Given the description of an element on the screen output the (x, y) to click on. 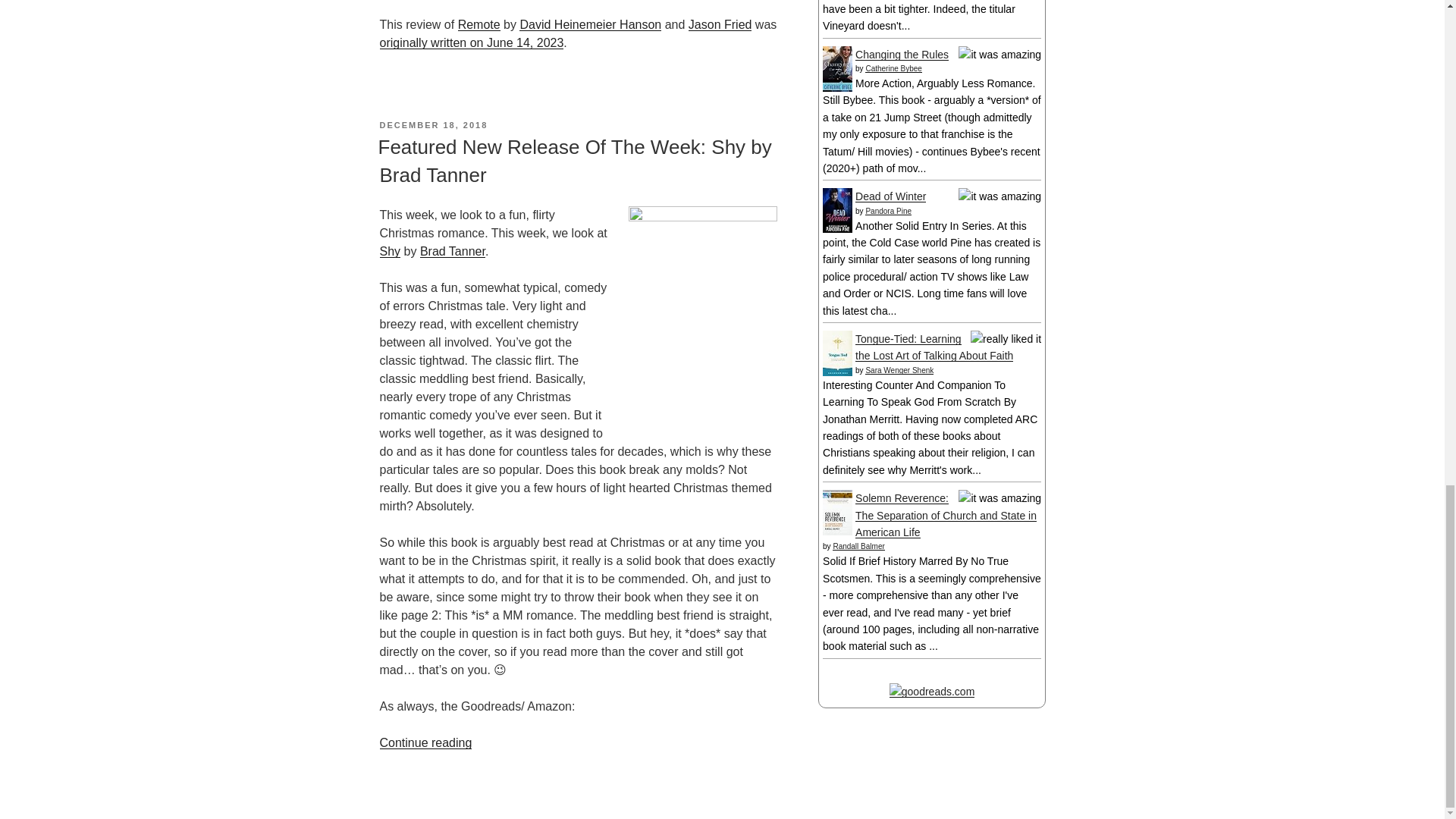
Shy (389, 250)
Remote (479, 24)
it was amazing (999, 196)
originally written on June 14, 2023 (470, 42)
DECEMBER 18, 2018 (432, 124)
Featured New Release Of The Week: Shy by Brad Tanner (574, 160)
it was amazing (999, 54)
Jason Fried (720, 24)
David Heinemeier Hanson (590, 24)
Brad Tanner (452, 250)
